Given the description of an element on the screen output the (x, y) to click on. 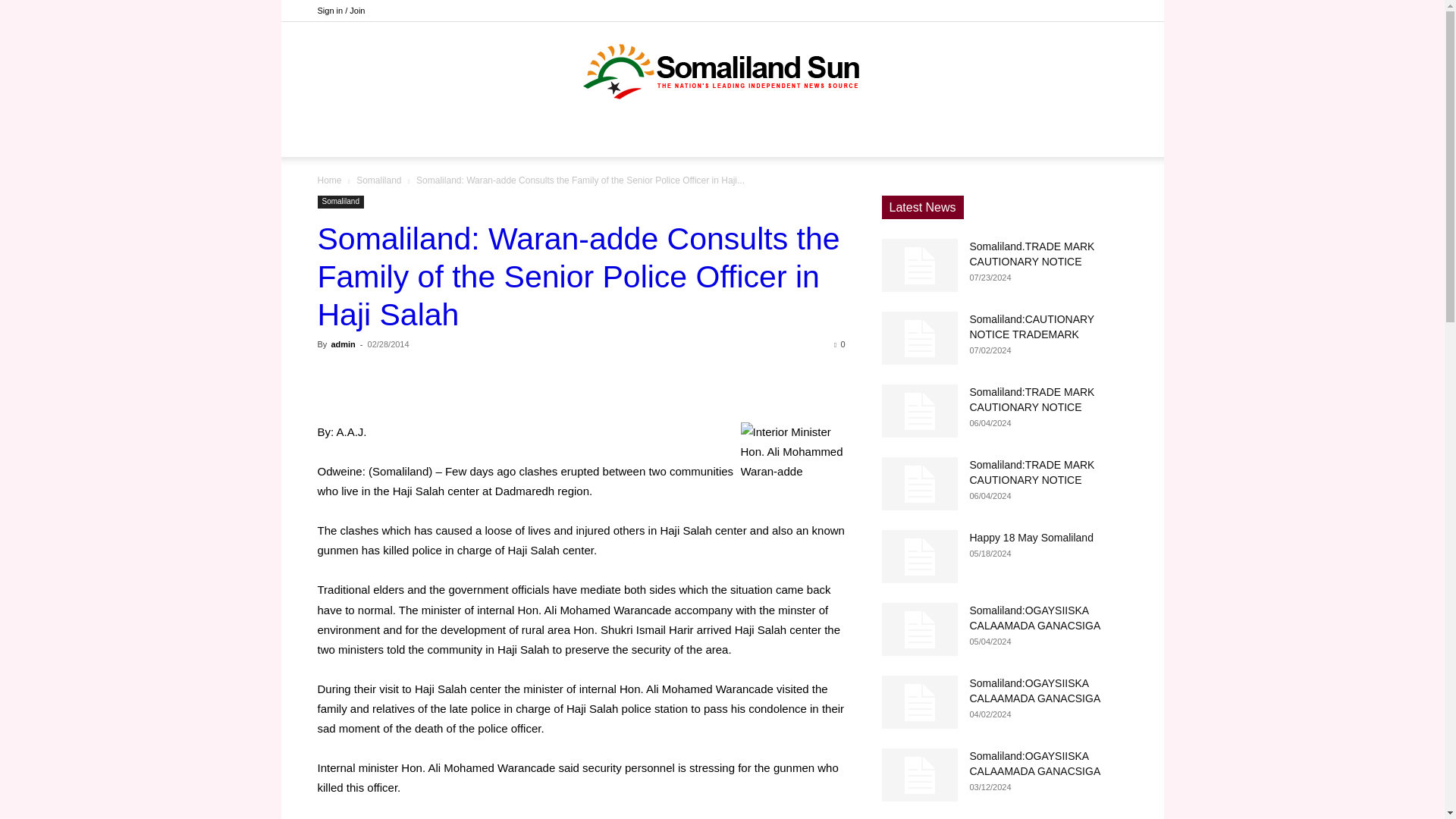
NEWS (617, 138)
HOME (450, 138)
DONOR NEWS (531, 138)
Somaliland Sun (722, 71)
